Given the description of an element on the screen output the (x, y) to click on. 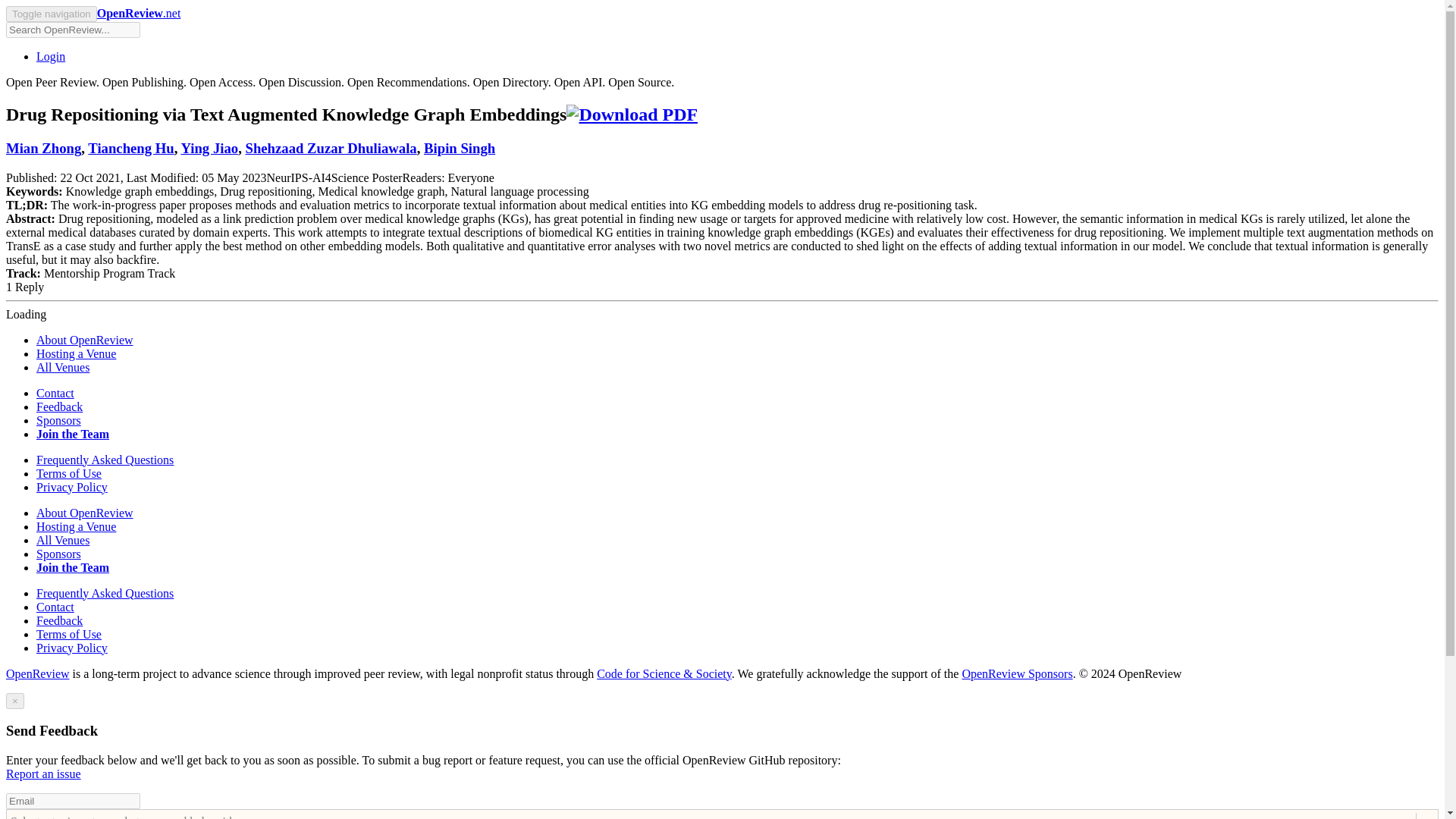
Ying Jiao (209, 148)
Report an issue (43, 773)
OpenReview Sponsors (1015, 673)
All Venues (62, 540)
Frequently Asked Questions (104, 459)
Bipin Singh (459, 148)
About OpenReview (84, 339)
Terms of Use (68, 472)
OpenReview (37, 673)
Mian Zhong (43, 148)
All Venues (62, 367)
Feedback (59, 406)
Login (50, 56)
OpenReview.net (138, 12)
Frequently Asked Questions (104, 593)
